Given the description of an element on the screen output the (x, y) to click on. 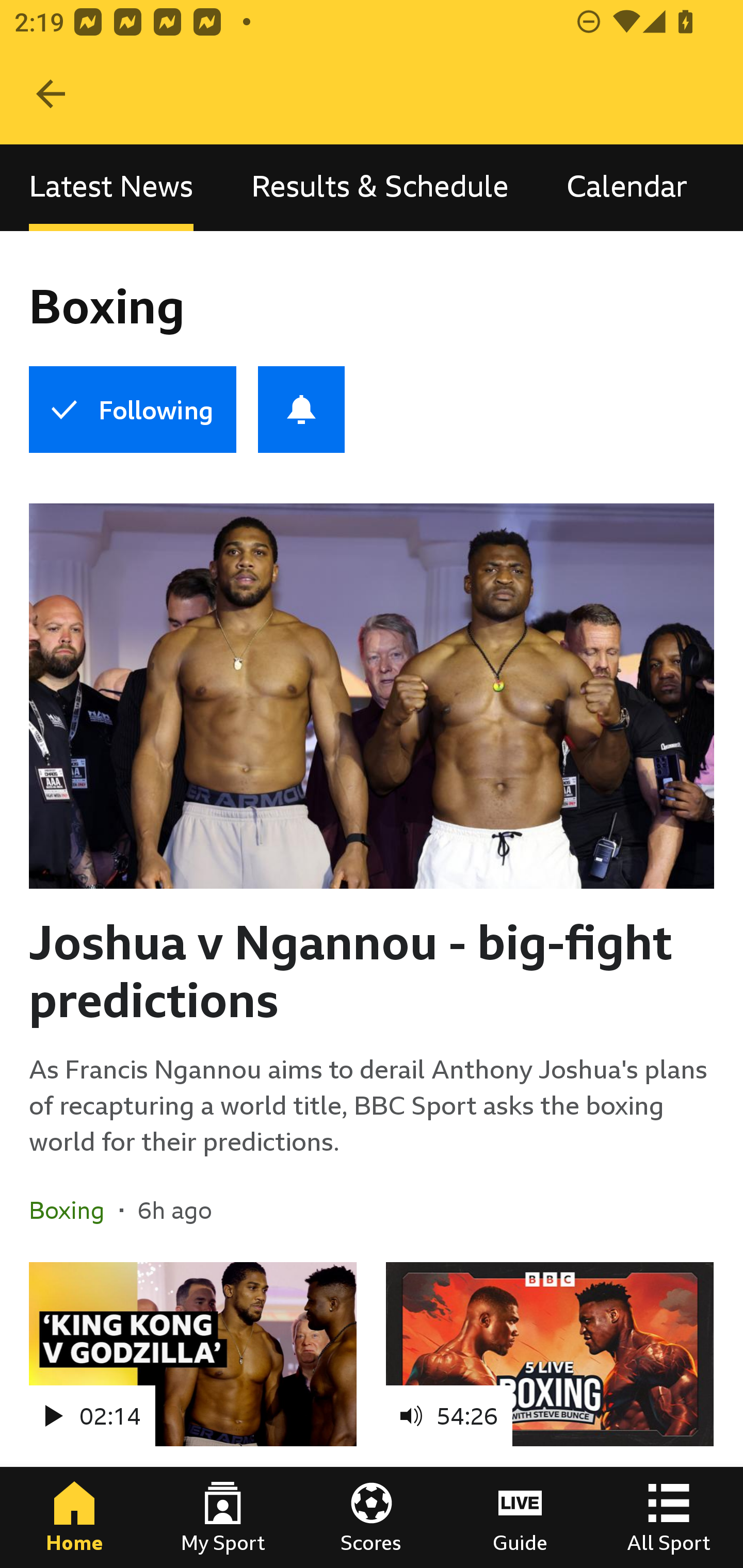
Navigate up (50, 93)
Latest News, selected Latest News (111, 187)
Results & Schedule (379, 187)
Calendar (626, 187)
Following Boxing Following (132, 409)
Push notifications for Boxing (300, 409)
My Sport (222, 1517)
Scores (371, 1517)
Guide (519, 1517)
All Sport (668, 1517)
